Given the description of an element on the screen output the (x, y) to click on. 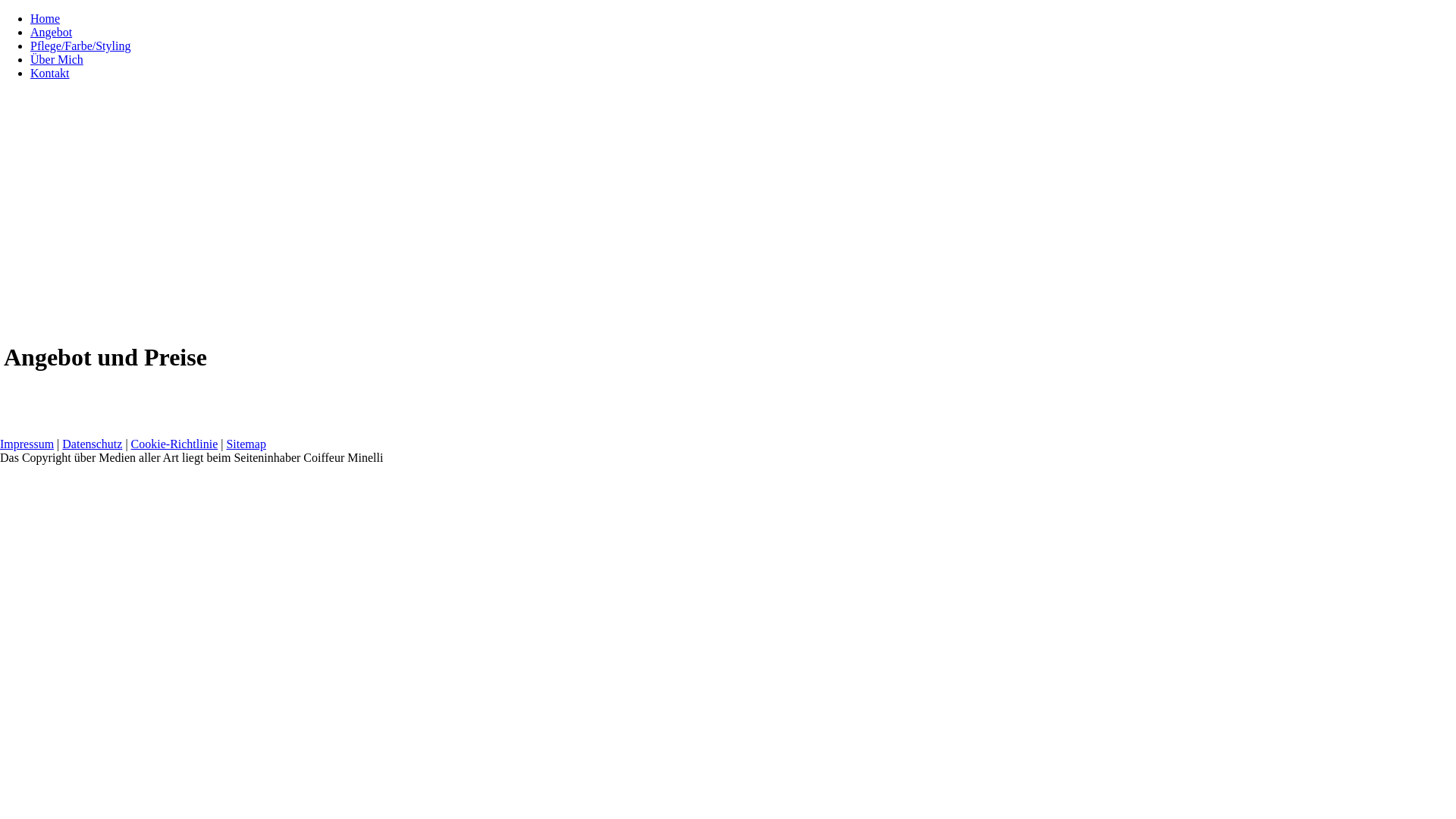
Datenschutz Element type: text (92, 443)
Impressum Element type: text (26, 443)
Angebot Element type: text (51, 31)
Pflege/Farbe/Styling Element type: text (80, 45)
Home Element type: text (44, 18)
Sitemap Element type: text (245, 443)
Cookie-Richtlinie Element type: text (174, 443)
Kontakt Element type: text (49, 72)
